Given the description of an element on the screen output the (x, y) to click on. 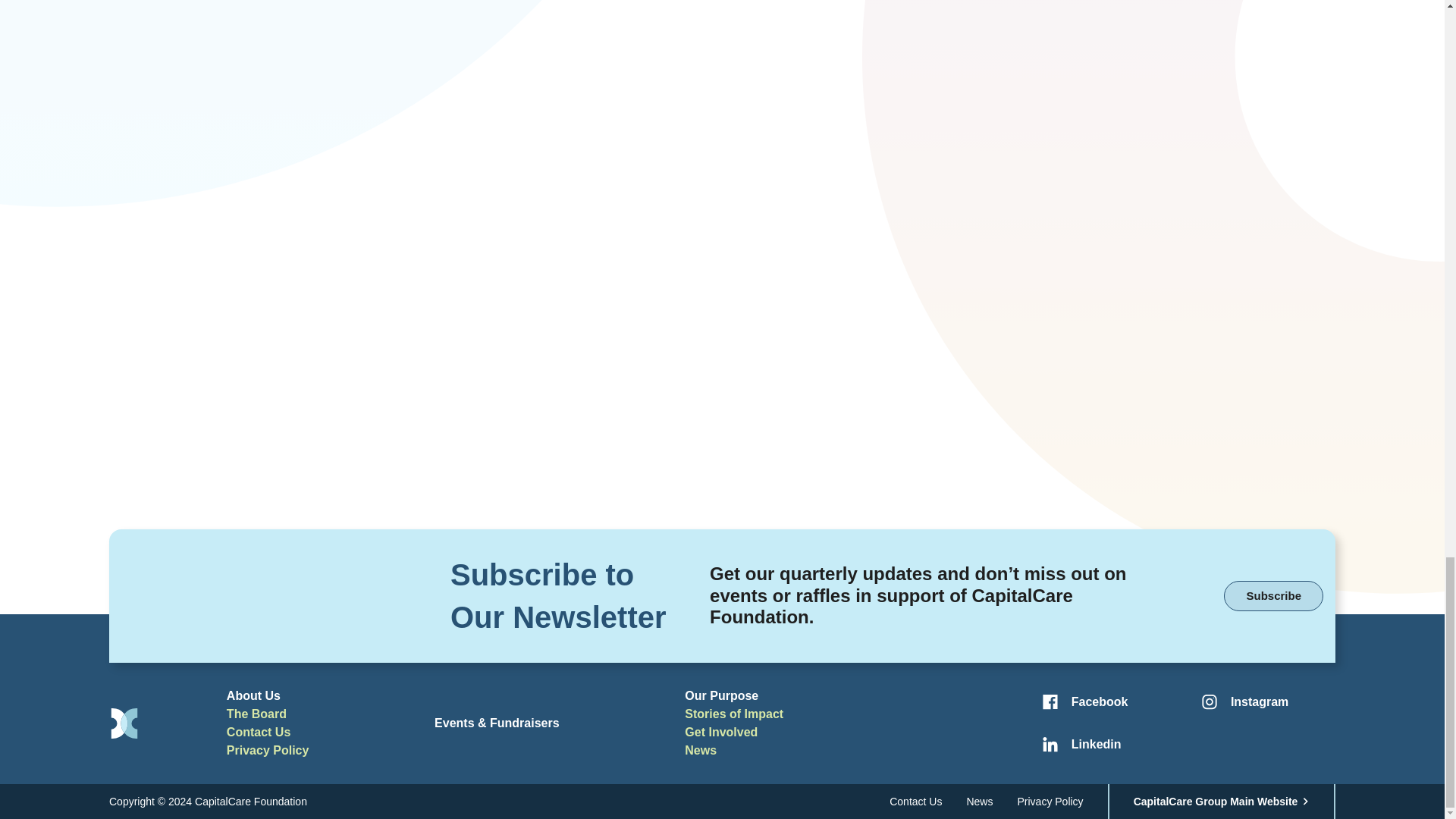
Subscribe (1273, 595)
